Given the description of an element on the screen output the (x, y) to click on. 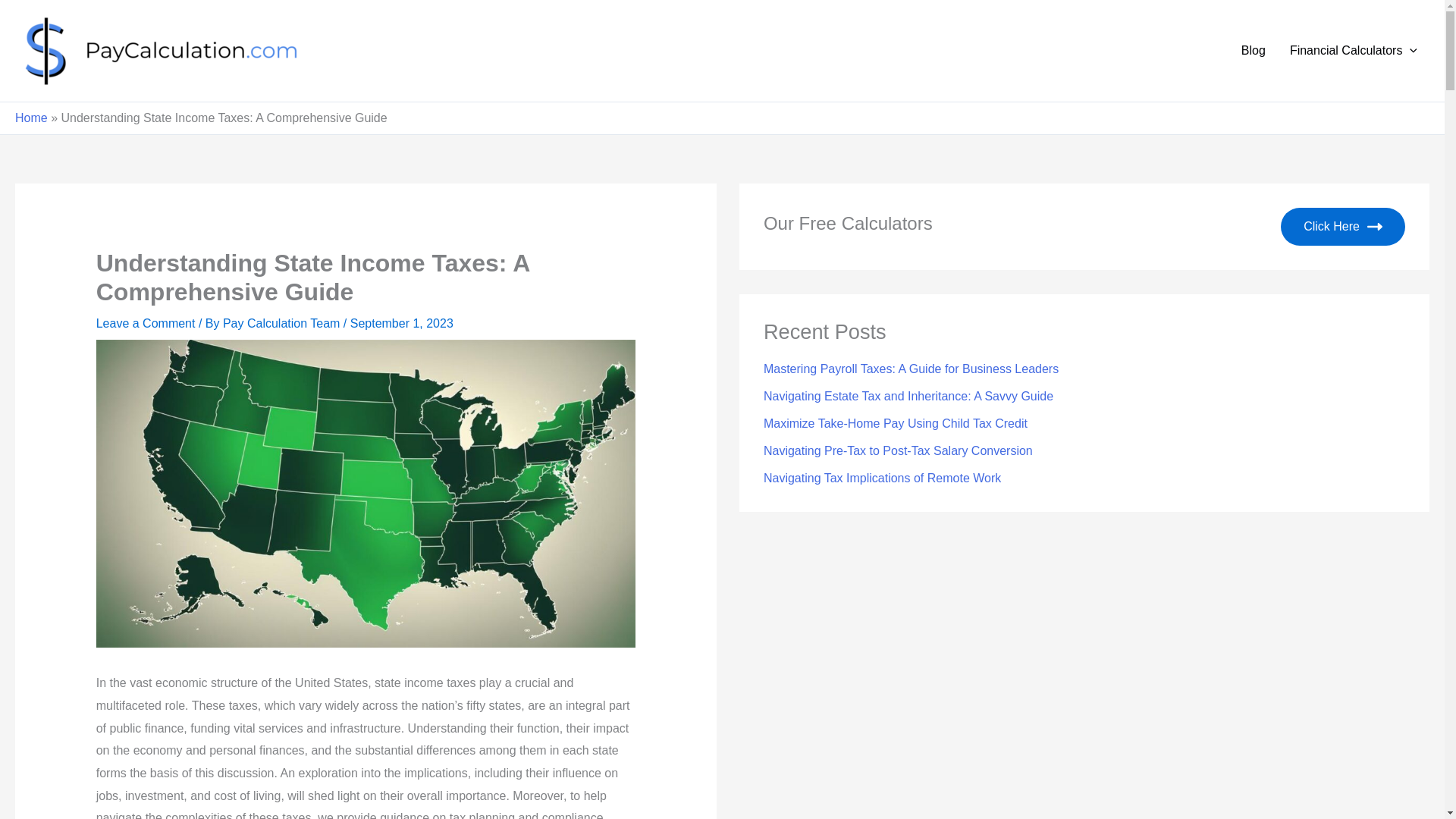
Pay Calculation Team (282, 323)
Mastering Payroll Taxes: A Guide for Business Leaders (910, 368)
Maximize Take-Home Pay Using Child Tax Credit (894, 422)
Navigating Tax Implications of Remote Work (881, 477)
Navigating Estate Tax and Inheritance: A Savvy Guide (907, 395)
Click Here (1343, 226)
Financial Calculators (1353, 50)
Home (31, 117)
View all posts by Pay Calculation Team (282, 323)
Leave a Comment (145, 323)
Navigating Pre-Tax to Post-Tax Salary Conversion (897, 450)
